Given the description of an element on the screen output the (x, y) to click on. 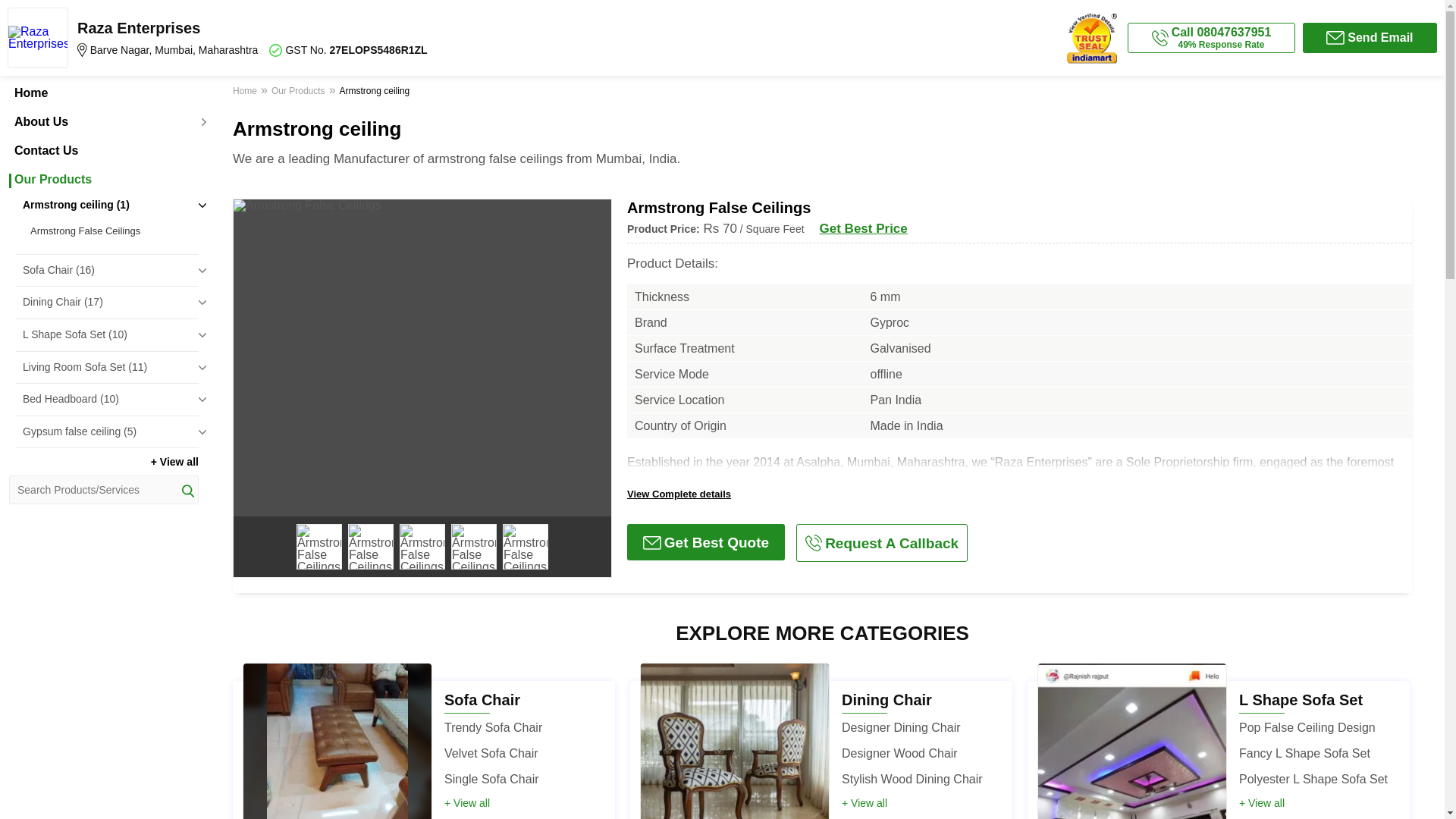
Armstrong False Ceilings (110, 231)
Home (103, 92)
Contact Us (103, 150)
About Us (103, 121)
Our Products (103, 179)
